Given the description of an element on the screen output the (x, y) to click on. 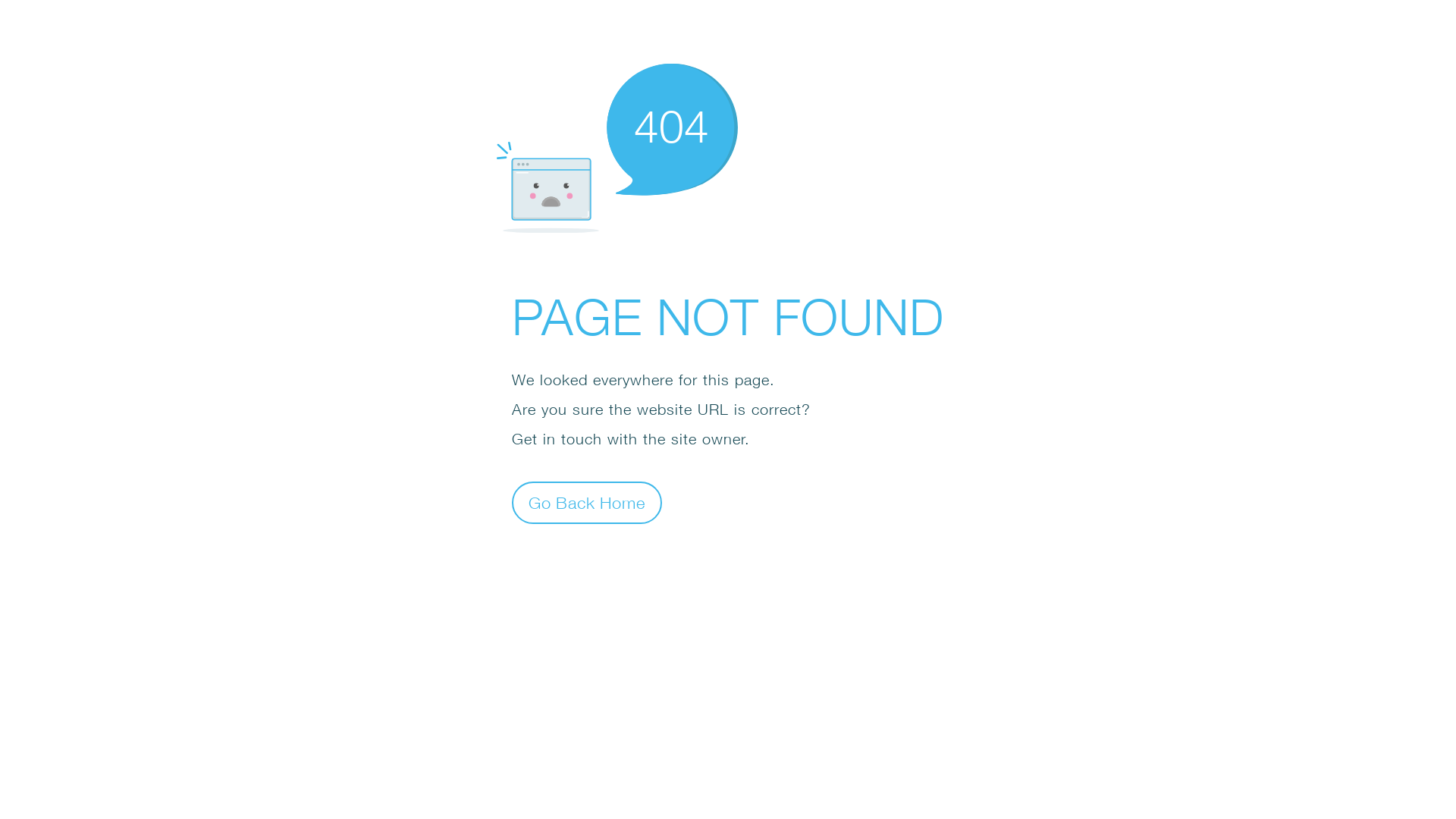
Go Back Home Element type: text (586, 502)
